Given the description of an element on the screen output the (x, y) to click on. 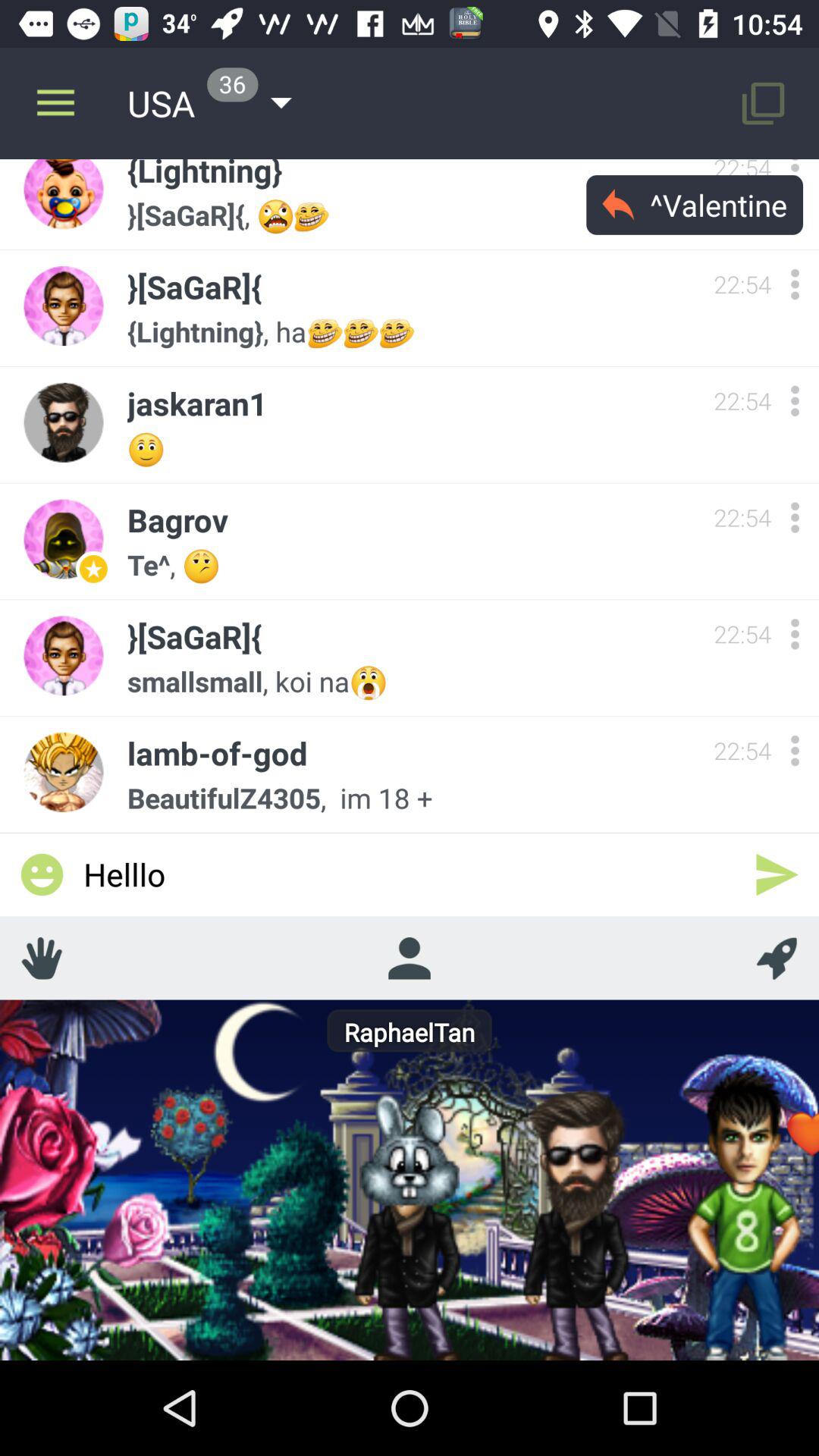
scroll until helllo icon (409, 873)
